Given the description of an element on the screen output the (x, y) to click on. 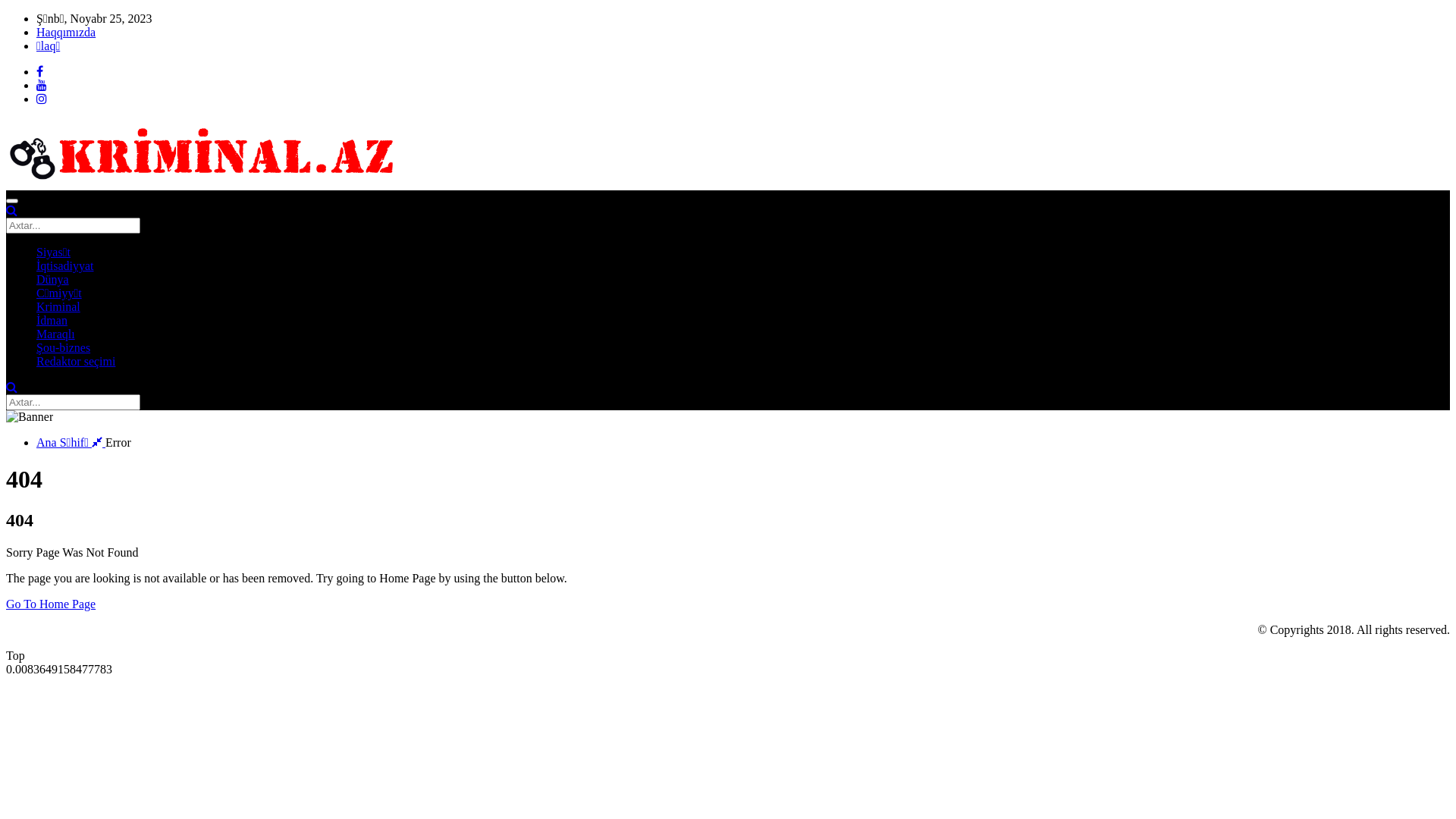
Go To Home Page Element type: text (50, 603)
Kriminal Element type: text (58, 306)
Toggle navigation Element type: text (12, 200)
